Given the description of an element on the screen output the (x, y) to click on. 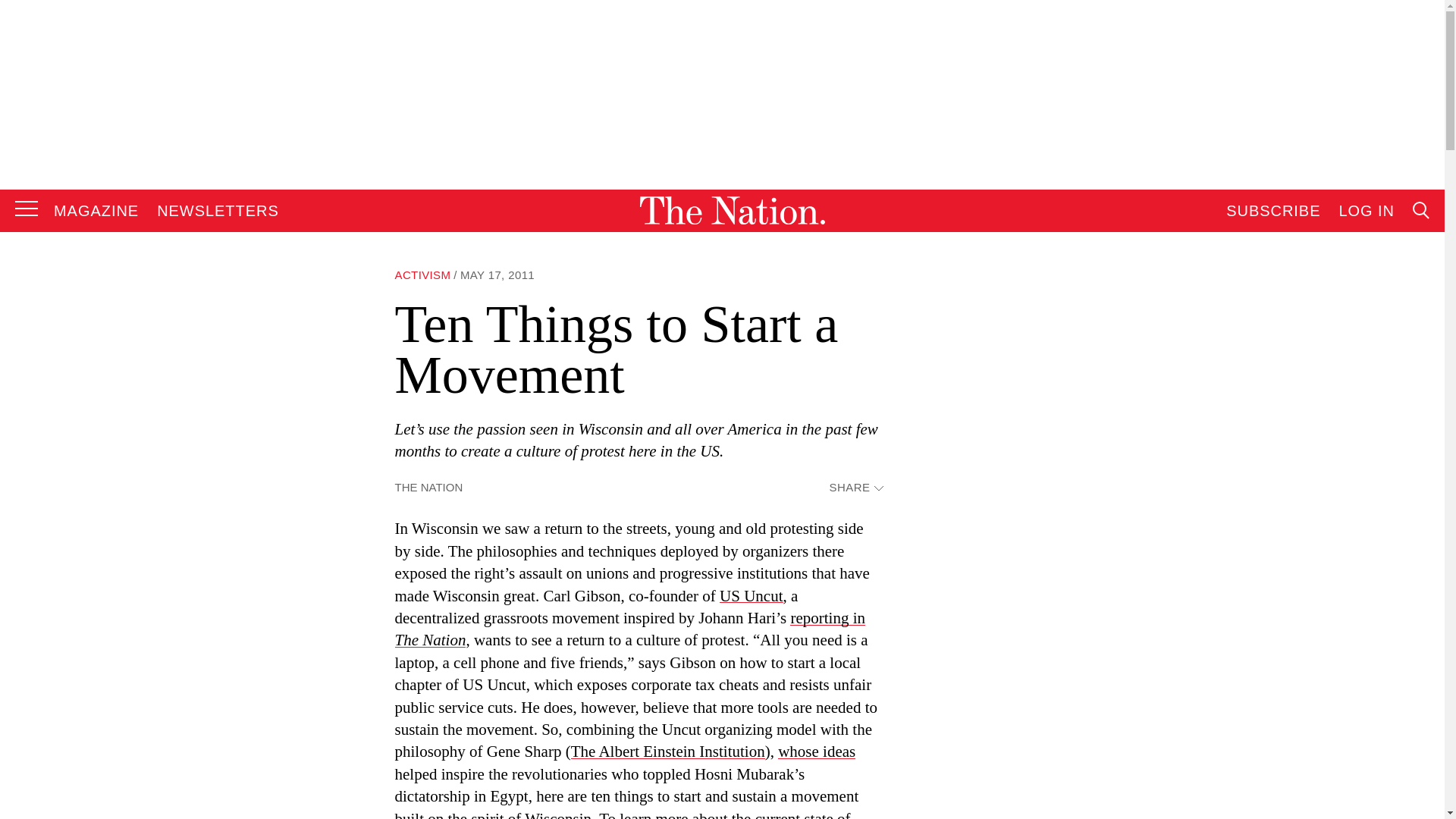
LOG IN (1366, 210)
ACTIVISM (421, 274)
THE NATION (428, 486)
SUBSCRIBE (1272, 210)
NEWSLETTERS (218, 210)
MAGAZINE (95, 210)
Search (1278, 364)
SHARE (855, 487)
